Given the description of an element on the screen output the (x, y) to click on. 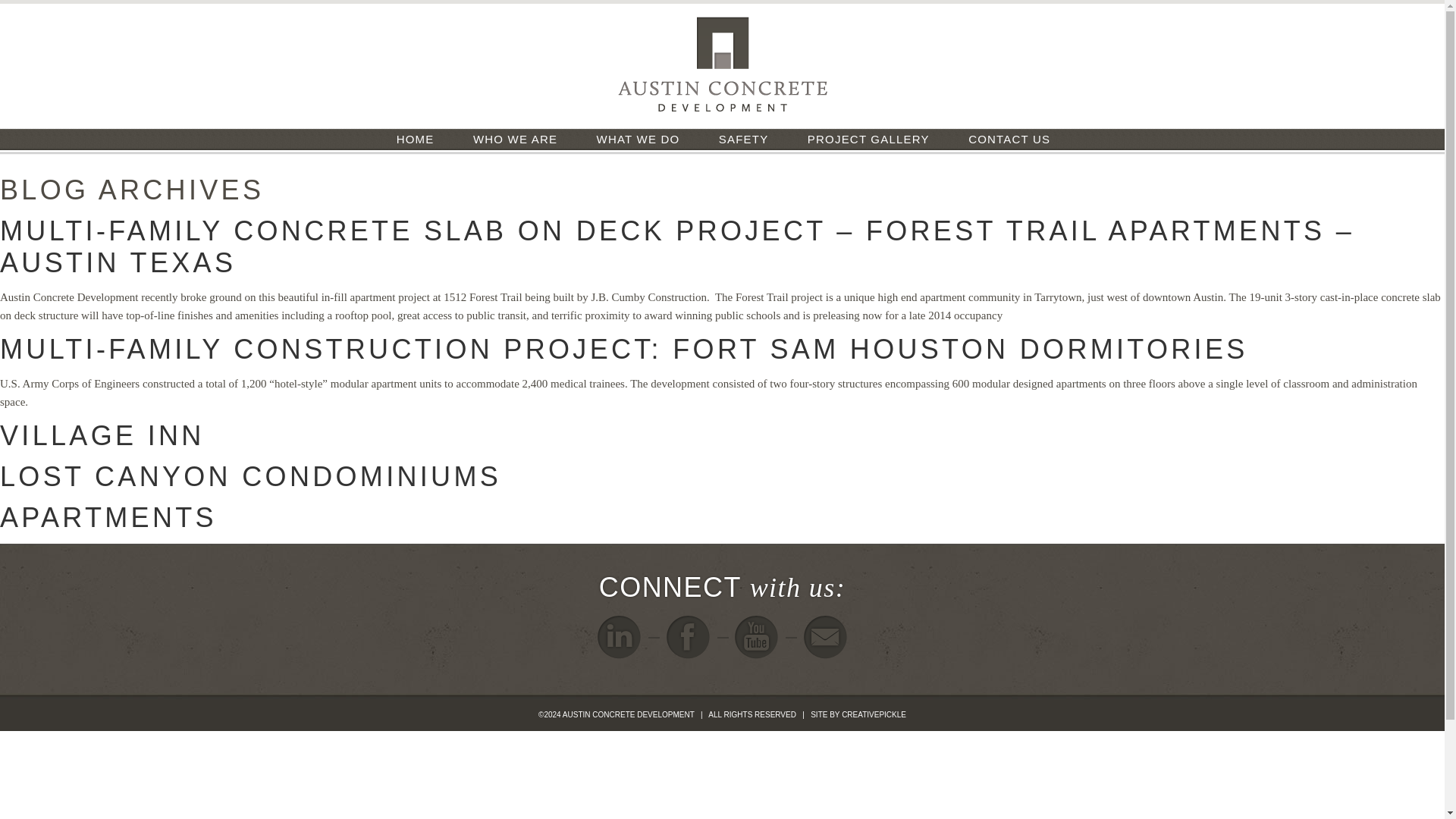
Permalink to Palasades Apartments (208, 558)
APARTMENTS (108, 517)
WHO WE ARE (515, 139)
Contact Us (825, 636)
WHAT WE DO (637, 139)
CONTACT US (1009, 139)
PALASADES APARTMENTS (208, 558)
Facebook (688, 636)
CREATIVEPICKLE (873, 714)
LinkedIn (618, 636)
PROJECT GALLERY (868, 139)
SAFETY (743, 139)
November 2012 (47, 648)
YouTube (756, 636)
